Given the description of an element on the screen output the (x, y) to click on. 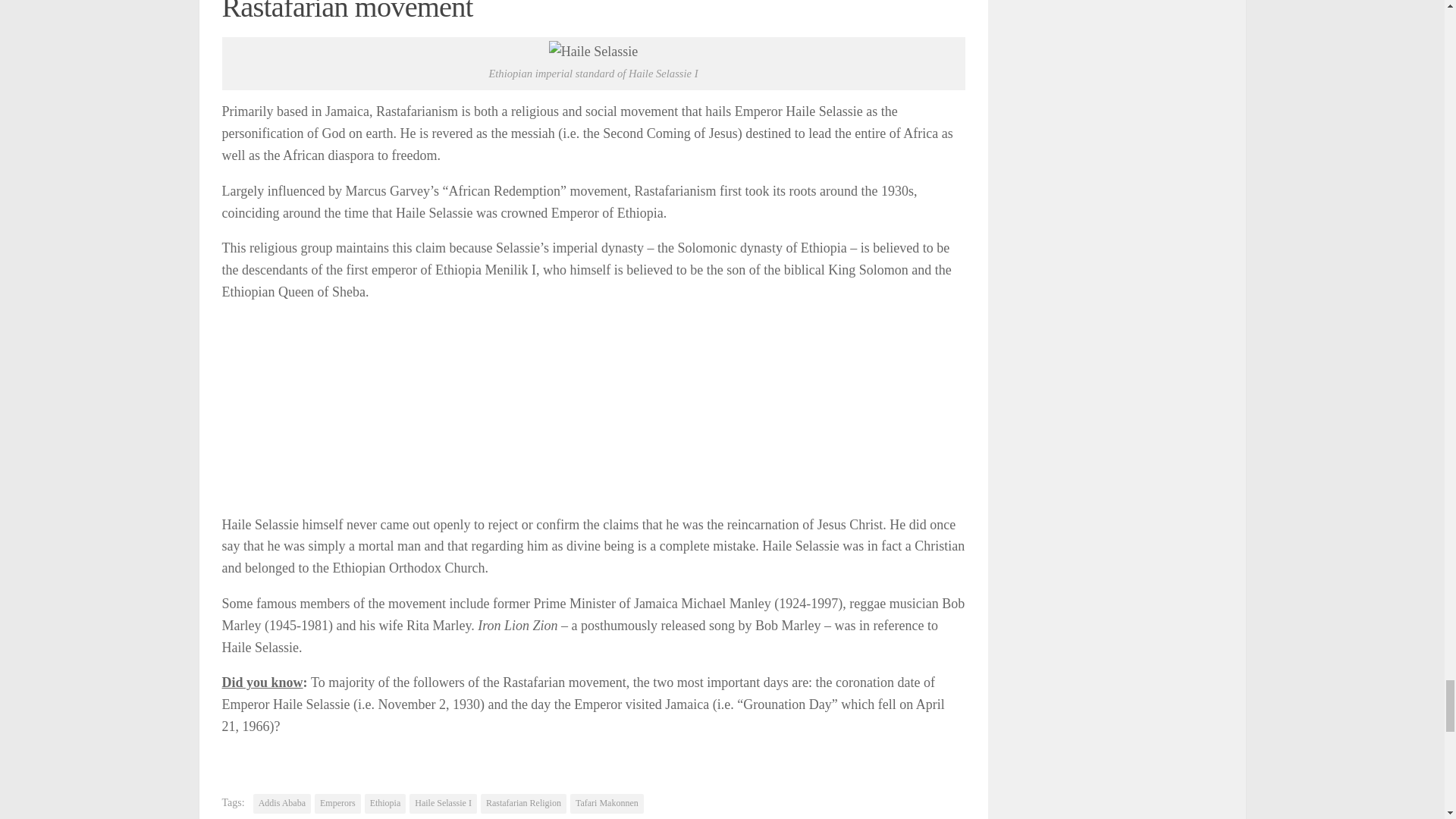
Haile Selassie I (443, 803)
Rastafarian Religion (523, 803)
Tafari Makonnen (606, 803)
Emperors (337, 803)
Addis Ababa (282, 803)
Ethiopia (385, 803)
